Given the description of an element on the screen output the (x, y) to click on. 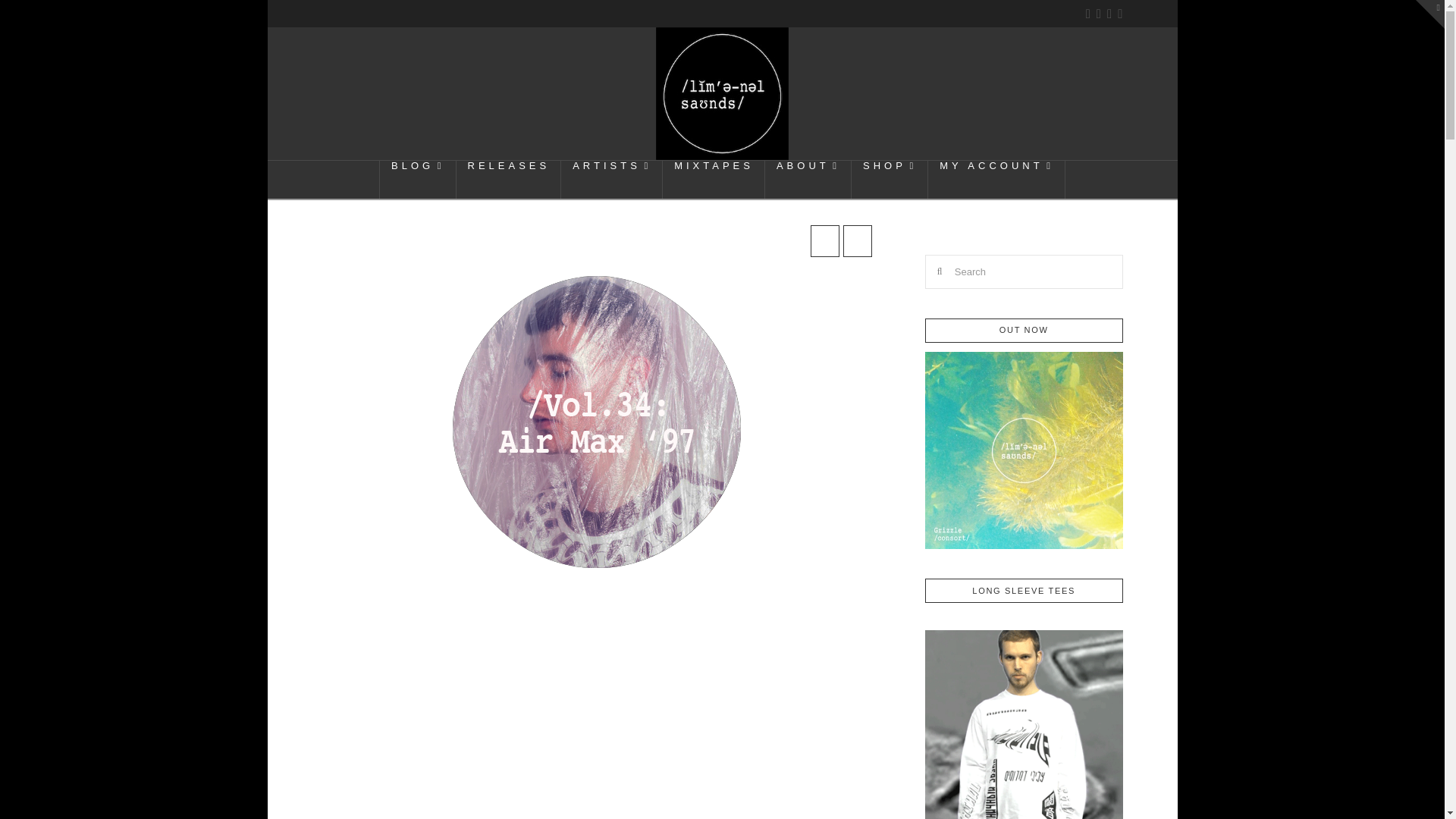
SHOP (889, 179)
ABOUT (808, 179)
Air Max '97 Bandcamp (419, 695)
MIXTAPES (713, 179)
RELEASES (509, 179)
BLOG (416, 179)
Air Max '97 Soundcloud (682, 638)
ARTISTS (611, 179)
Record Label (722, 93)
